Given the description of an element on the screen output the (x, y) to click on. 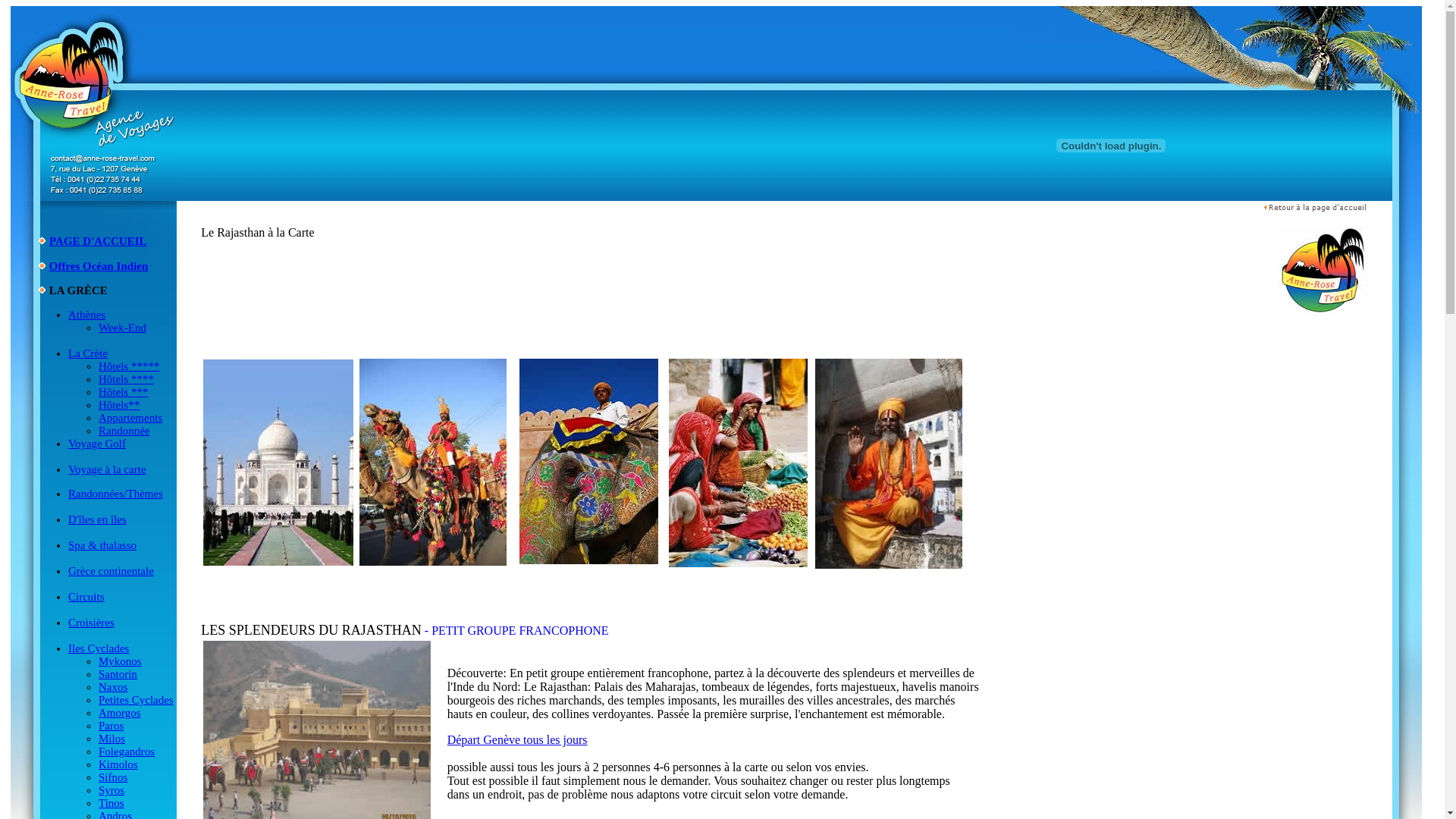
Petites Cyclades Element type: text (135, 699)
Voyage Golf Element type: text (96, 449)
PAGE D'ACCUEIL Element type: text (97, 241)
Amorgos Element type: text (119, 712)
Tinos Element type: text (111, 803)
Paros Element type: text (110, 725)
Folegandros Element type: text (126, 751)
Santorin Element type: text (117, 674)
Milos Element type: text (111, 738)
Circuits Element type: text (86, 596)
Sifnos Element type: text (112, 777)
Week-End Element type: text (122, 327)
Spa & thalasso Element type: text (102, 551)
Iles Cyclades Element type: text (98, 648)
Kimolos Element type: text (118, 764)
Naxos Element type: text (112, 686)
Mykonos Element type: text (119, 661)
Appartements Element type: text (130, 417)
Syros Element type: text (111, 790)
